Given the description of an element on the screen output the (x, y) to click on. 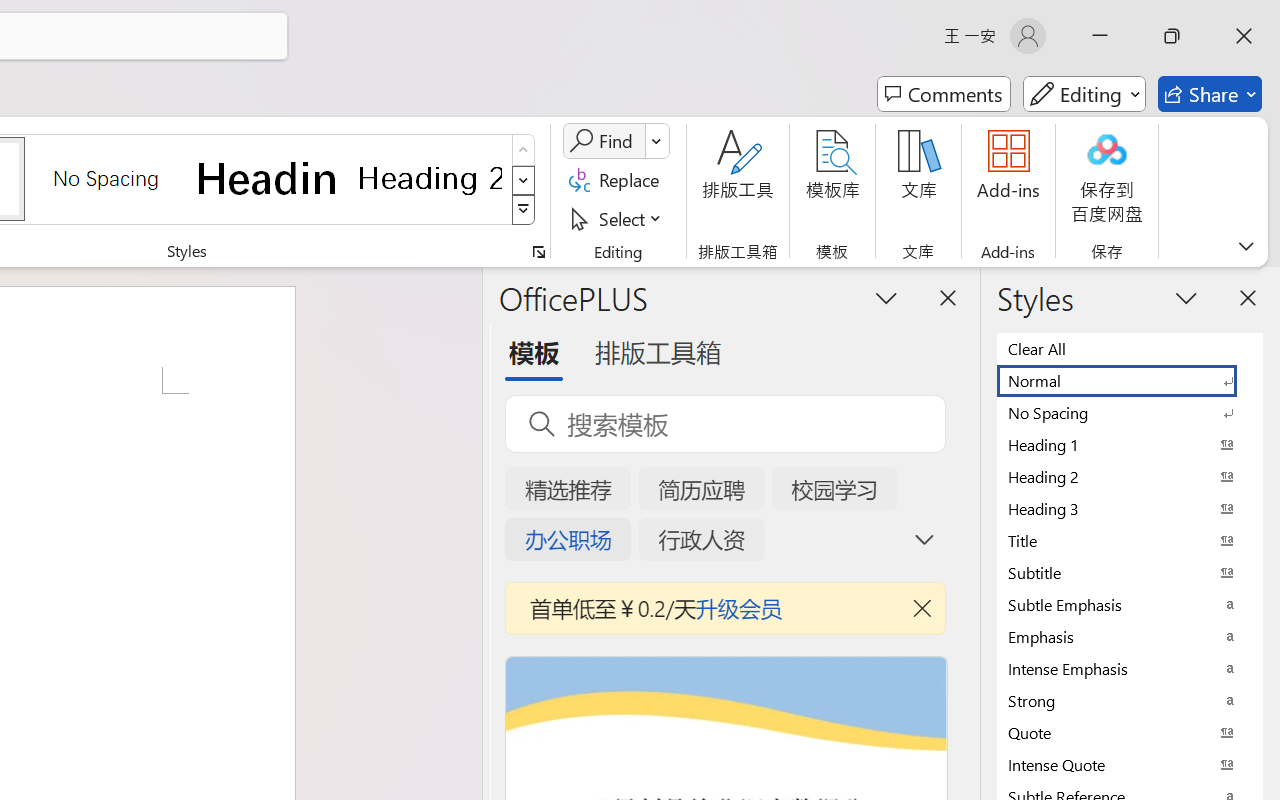
Task Pane Options (886, 297)
Styles... (538, 252)
Subtle Emphasis (1130, 604)
Find (616, 141)
Heading 3 (1130, 508)
Close (1244, 36)
Quote (1130, 732)
Find (604, 141)
Clear All (1130, 348)
Comments (943, 94)
Heading 2 (429, 178)
